Given the description of an element on the screen output the (x, y) to click on. 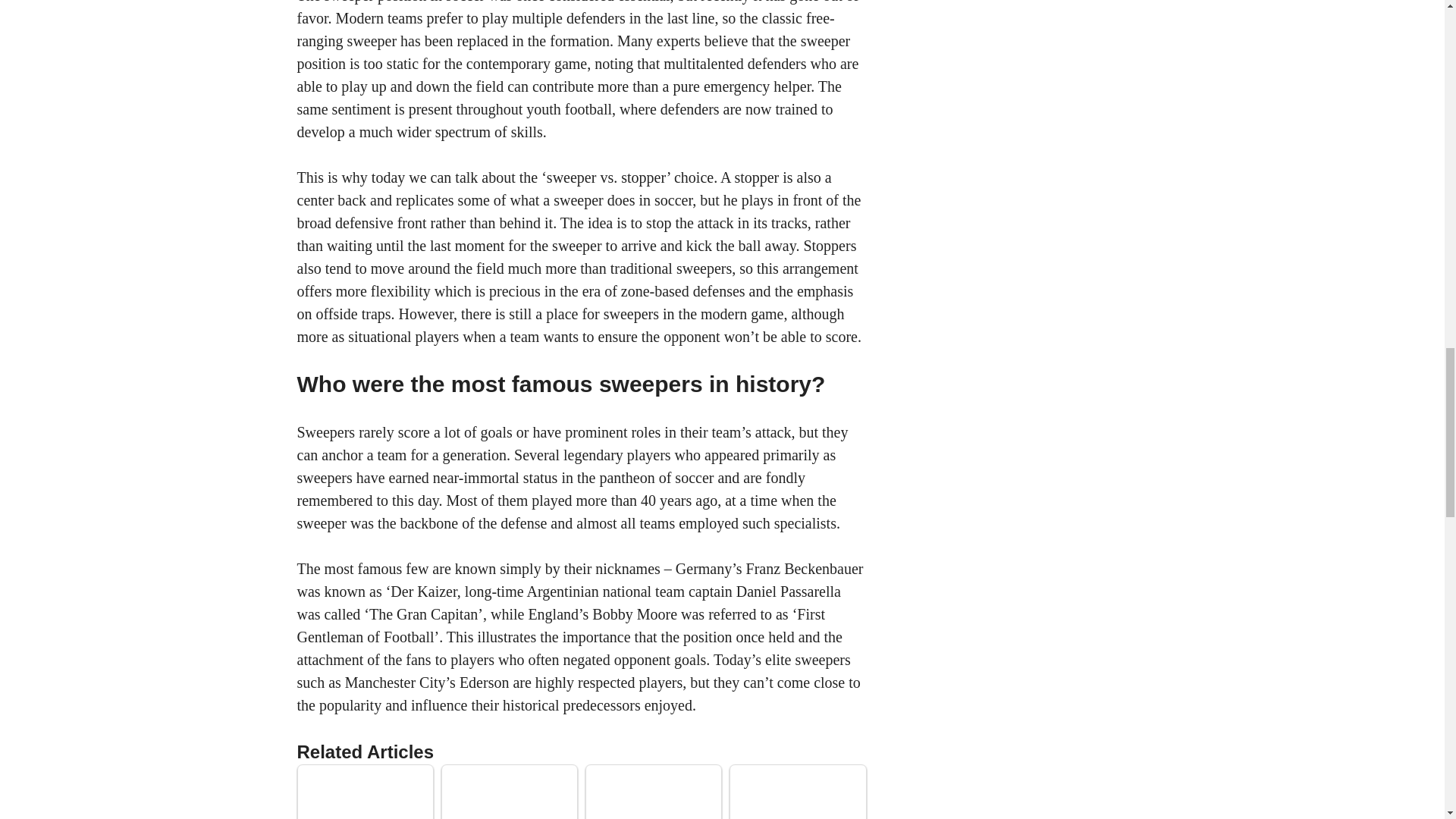
What is ECNL Soccer Doing for Youth Sport in the US? (797, 791)
How To Get Better At Soccer? Practice Like a Pro! (364, 791)
How To Get Better At Soccer? Practice Like a Pro! (364, 793)
What is ECNL Soccer Doing for Youth Sport in the US? (797, 793)
Why do Baseball Players Wear Chains? 5 Reasons (653, 791)
Why Do Baseball Players Chew Gum? (509, 791)
Why do Baseball Players Wear Chains? 5 Reasons (653, 793)
Why Do Baseball Players Chew Gum? (509, 793)
